Given the description of an element on the screen output the (x, y) to click on. 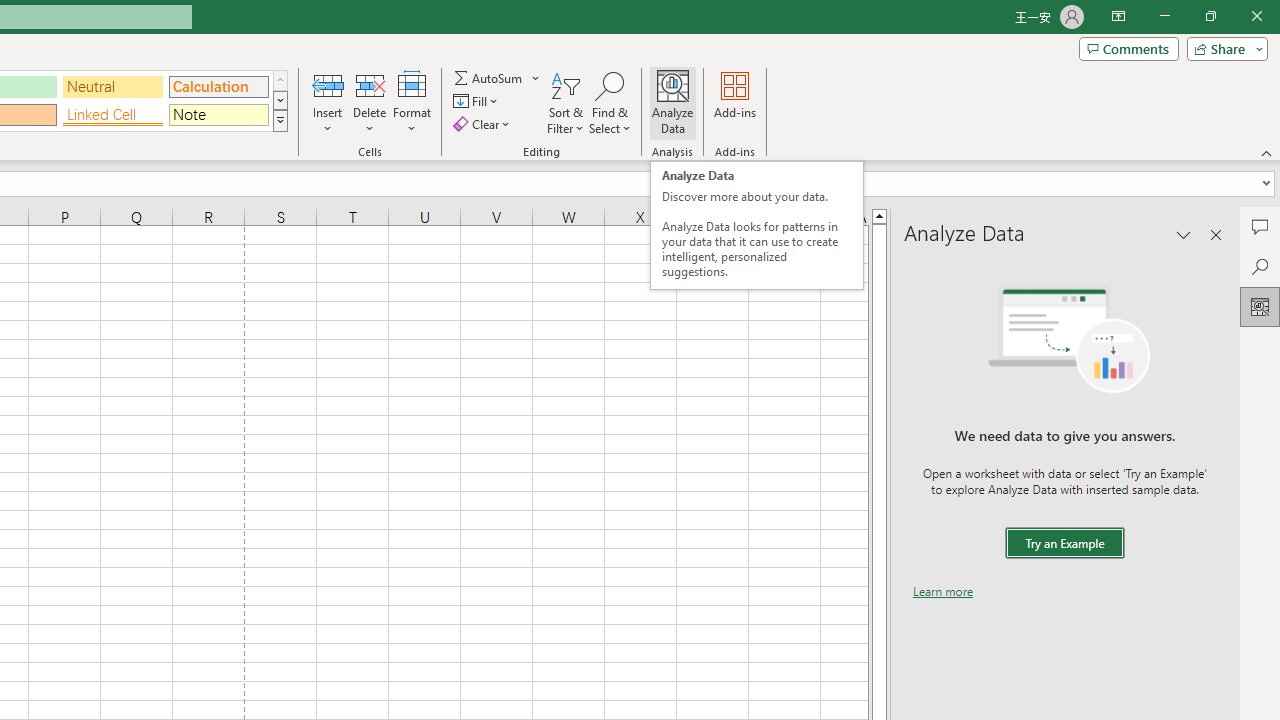
Minimize (1164, 16)
Insert (328, 102)
Class: NetUIImage (280, 120)
Row up (280, 79)
Ribbon Display Options (1118, 16)
Neutral (113, 86)
Restore Down (1210, 16)
More Options (536, 78)
Calculation (218, 86)
We need data to give you answers. Try an Example (1064, 543)
Close pane (1215, 234)
Analyze Data (673, 102)
Sum (489, 78)
Delete (369, 102)
